Given the description of an element on the screen output the (x, y) to click on. 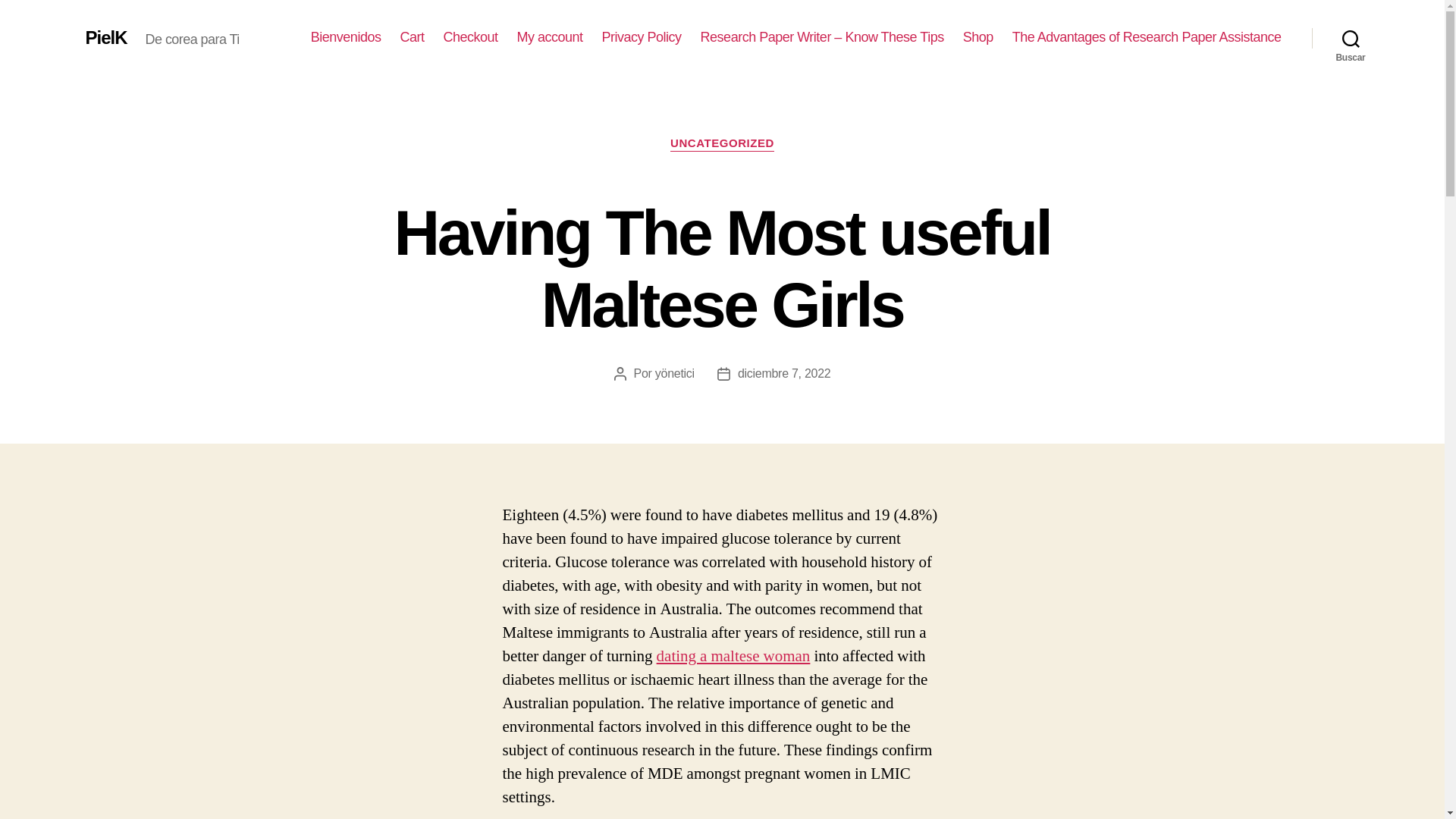
My account (549, 37)
UNCATEGORIZED (721, 143)
dating a maltese woman (733, 656)
Cart (410, 37)
Buscar (1350, 37)
Checkout (469, 37)
Privacy Policy (641, 37)
The Advantages of Research Paper Assistance (1146, 37)
Bienvenidos (346, 37)
diciembre 7, 2022 (784, 373)
Shop (977, 37)
PielK (105, 37)
